Given the description of an element on the screen output the (x, y) to click on. 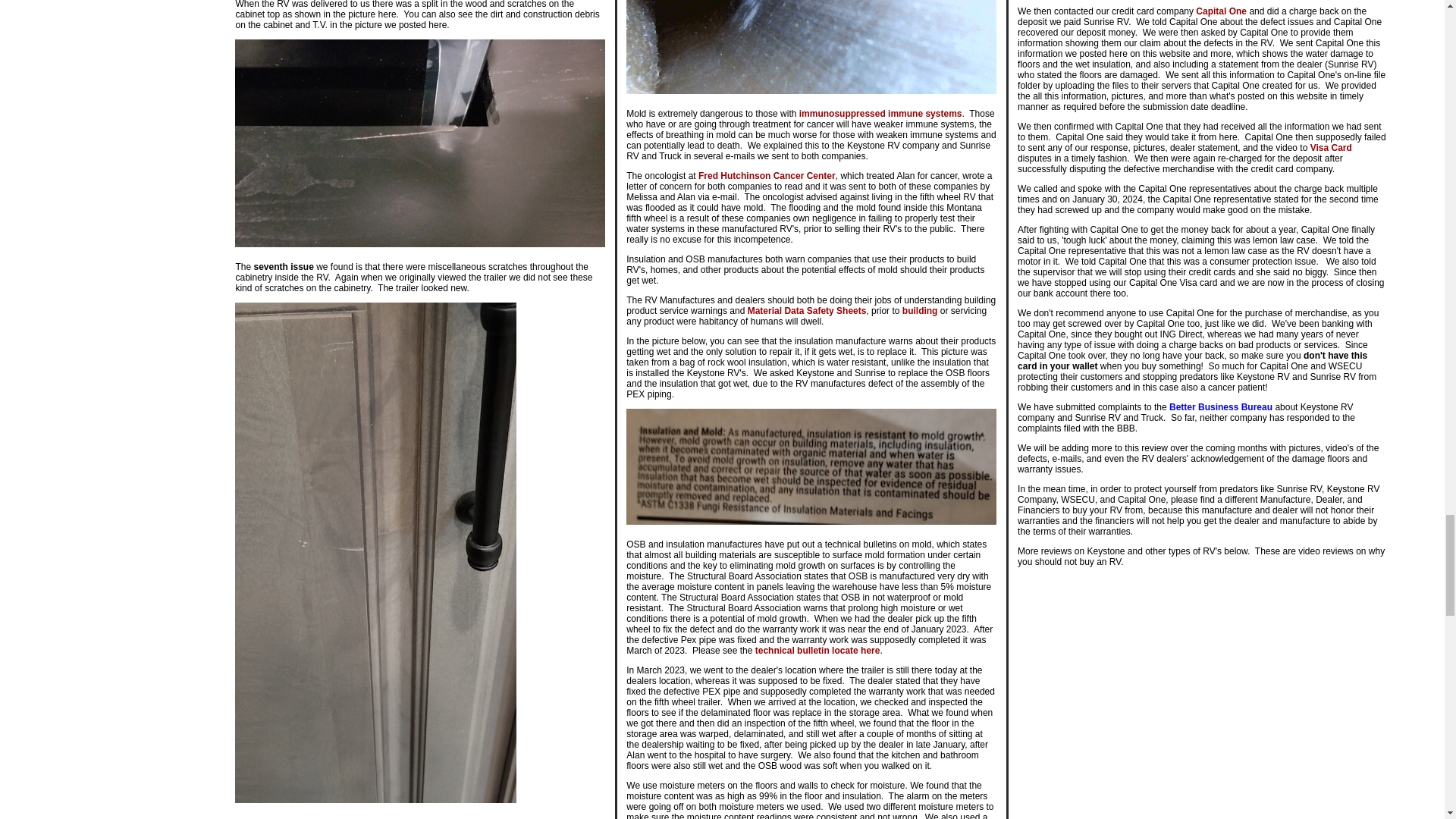
building (919, 310)
Better Business Bureau (1220, 407)
Visa Card (1331, 147)
Fred Hutchinson Cancer Center (766, 175)
5 Problems With Our New Keystone Cougar RV (1202, 750)
Capital One (1220, 10)
immunosuppressed immune systems (880, 113)
technical bulletin locate here (817, 650)
Material Data Safety Sheets (807, 310)
